Given the description of an element on the screen output the (x, y) to click on. 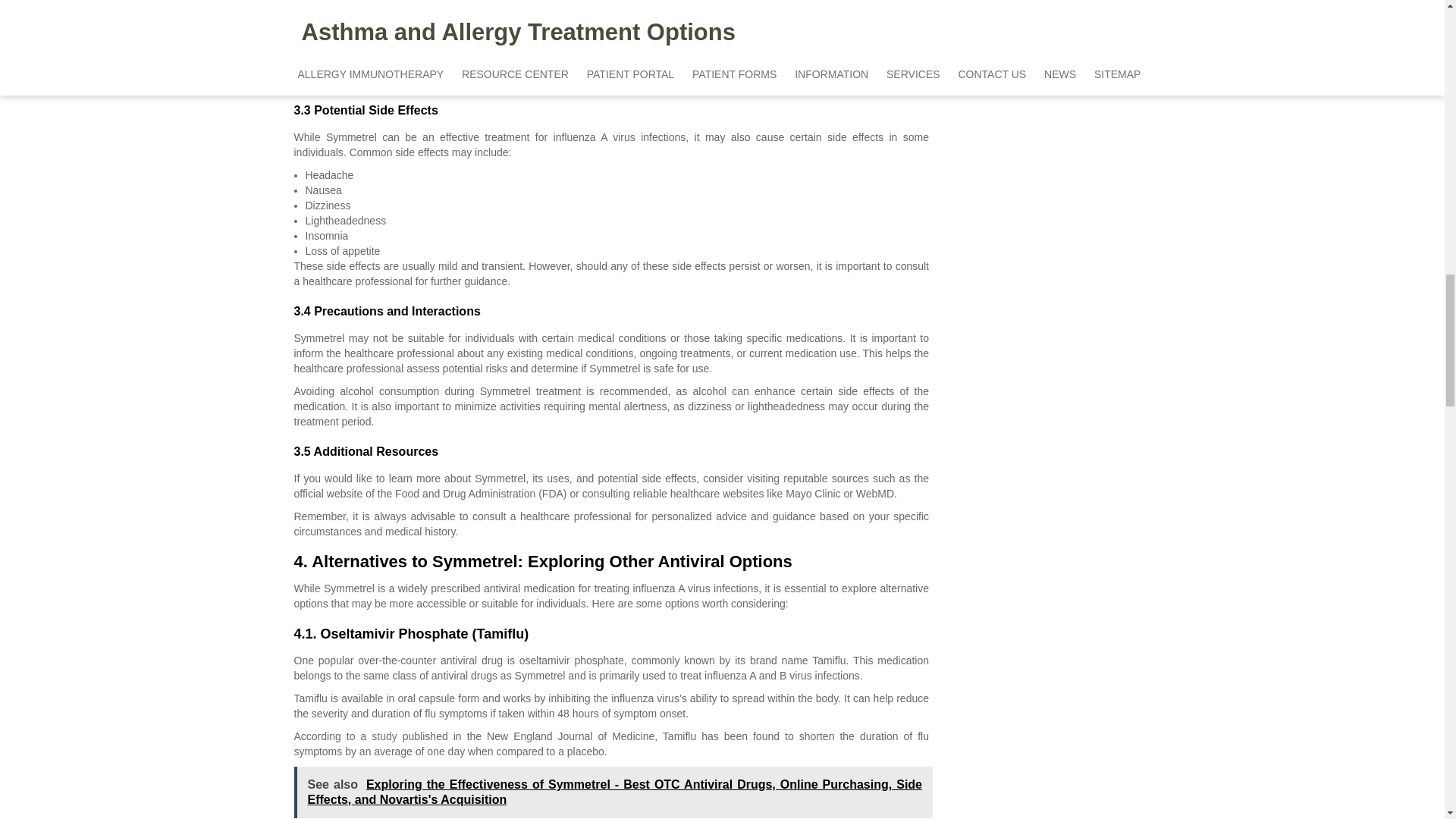
study (383, 736)
